Given the description of an element on the screen output the (x, y) to click on. 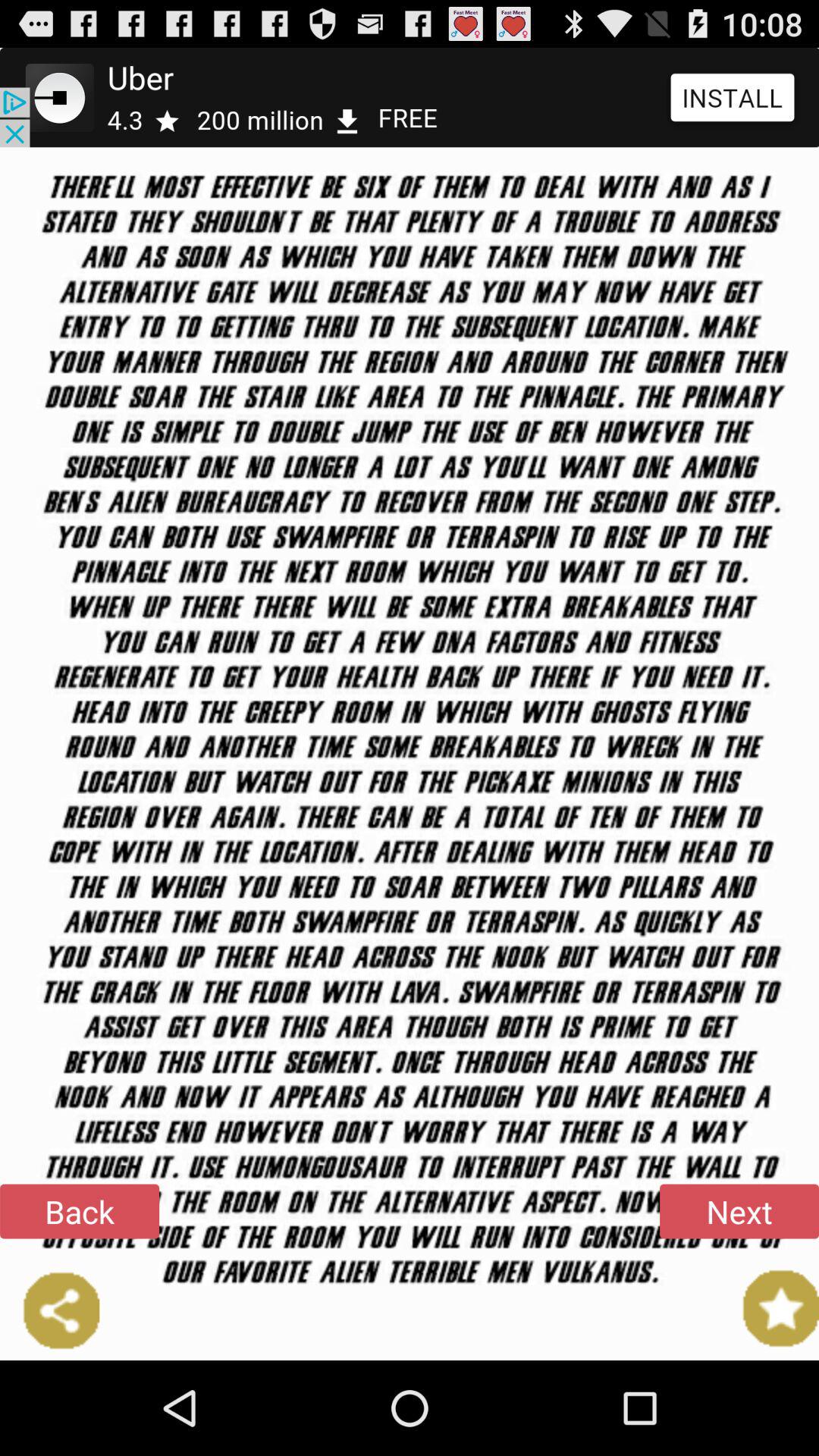
launch the button next to back icon (739, 1211)
